Given the description of an element on the screen output the (x, y) to click on. 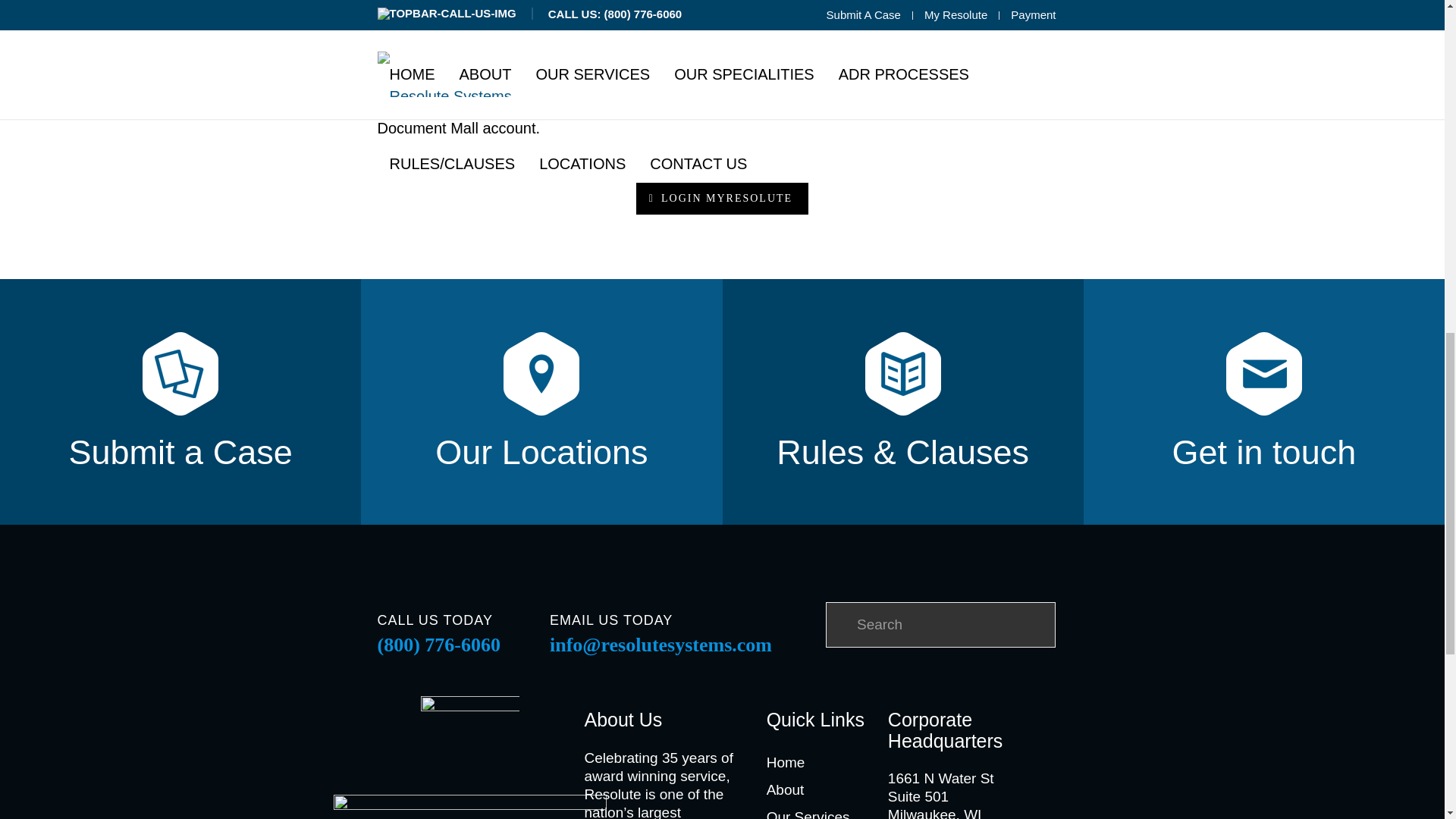
get-in-touch (1263, 373)
submit-a-case (180, 373)
rules-cluases (902, 373)
our-locations (541, 373)
